Given the description of an element on the screen output the (x, y) to click on. 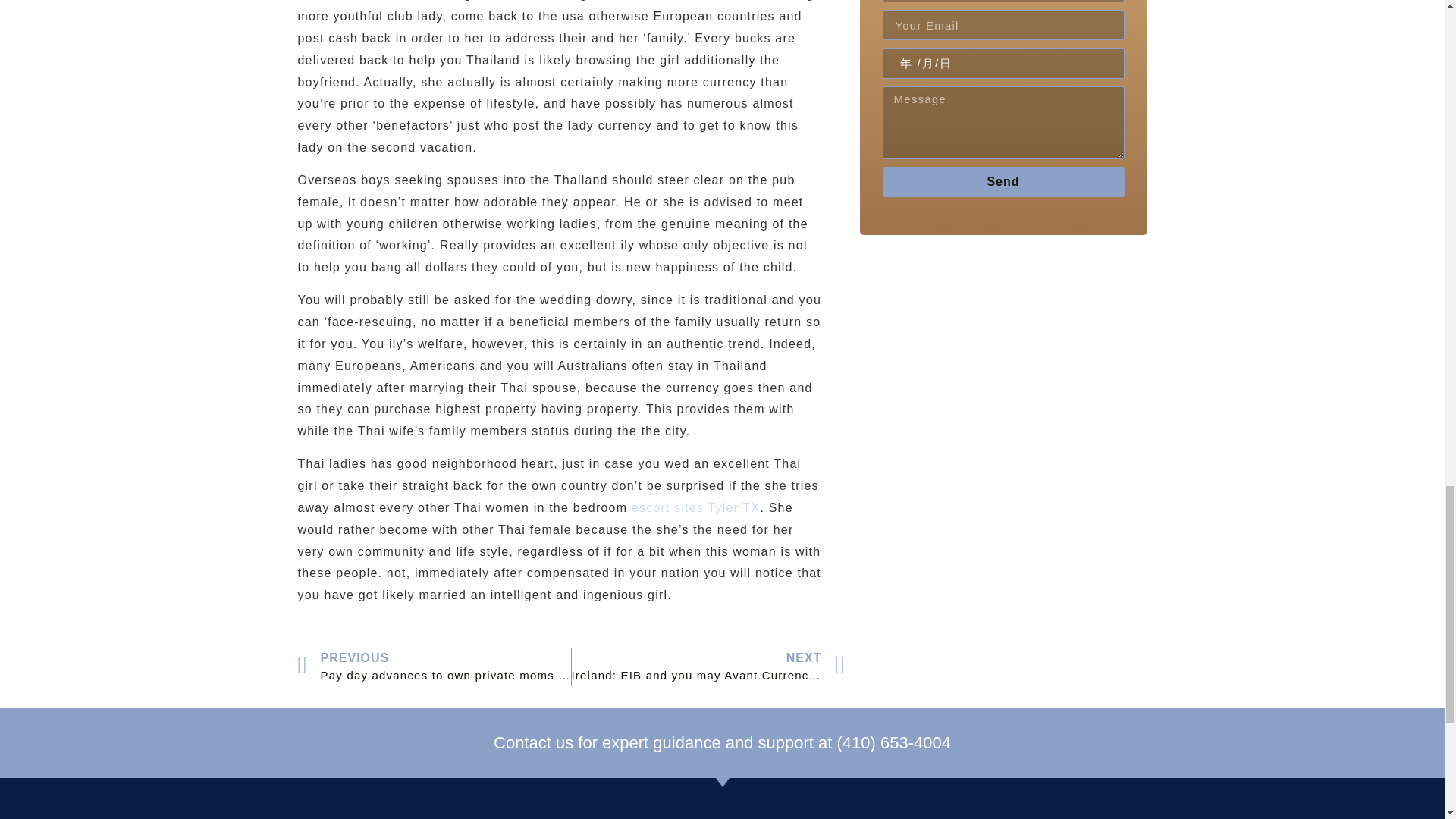
escort sites Tyler TX (695, 507)
Send (1003, 182)
